Given the description of an element on the screen output the (x, y) to click on. 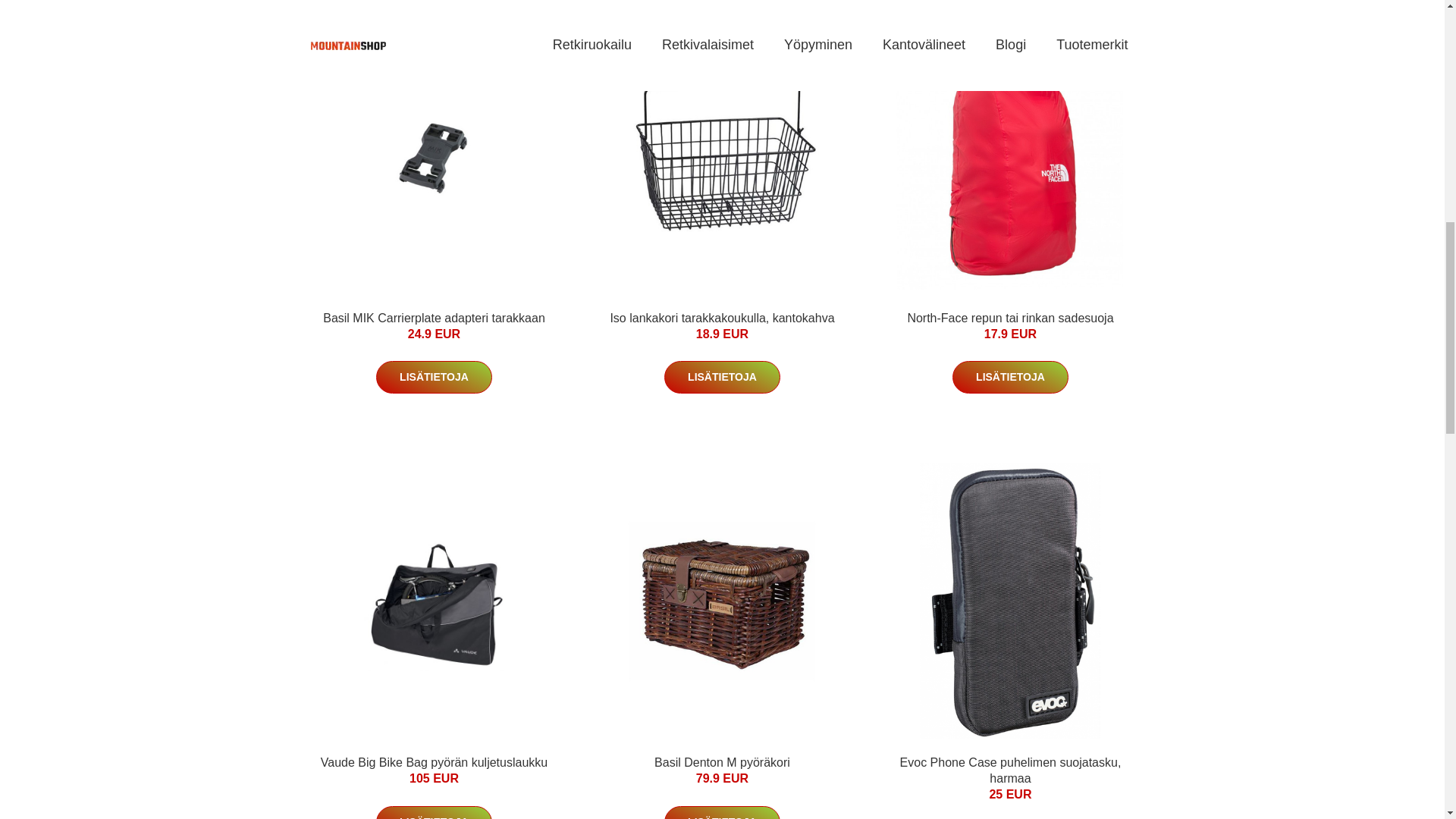
Iso lankakori tarakkakoukulla, kantokahva (722, 318)
Evoc Phone Case puhelimen suojatasku, harmaa (1010, 769)
North-Face repun tai rinkan sadesuoja (1010, 318)
Basil MIK Carrierplate adapteri tarakkaan (433, 318)
